Given the description of an element on the screen output the (x, y) to click on. 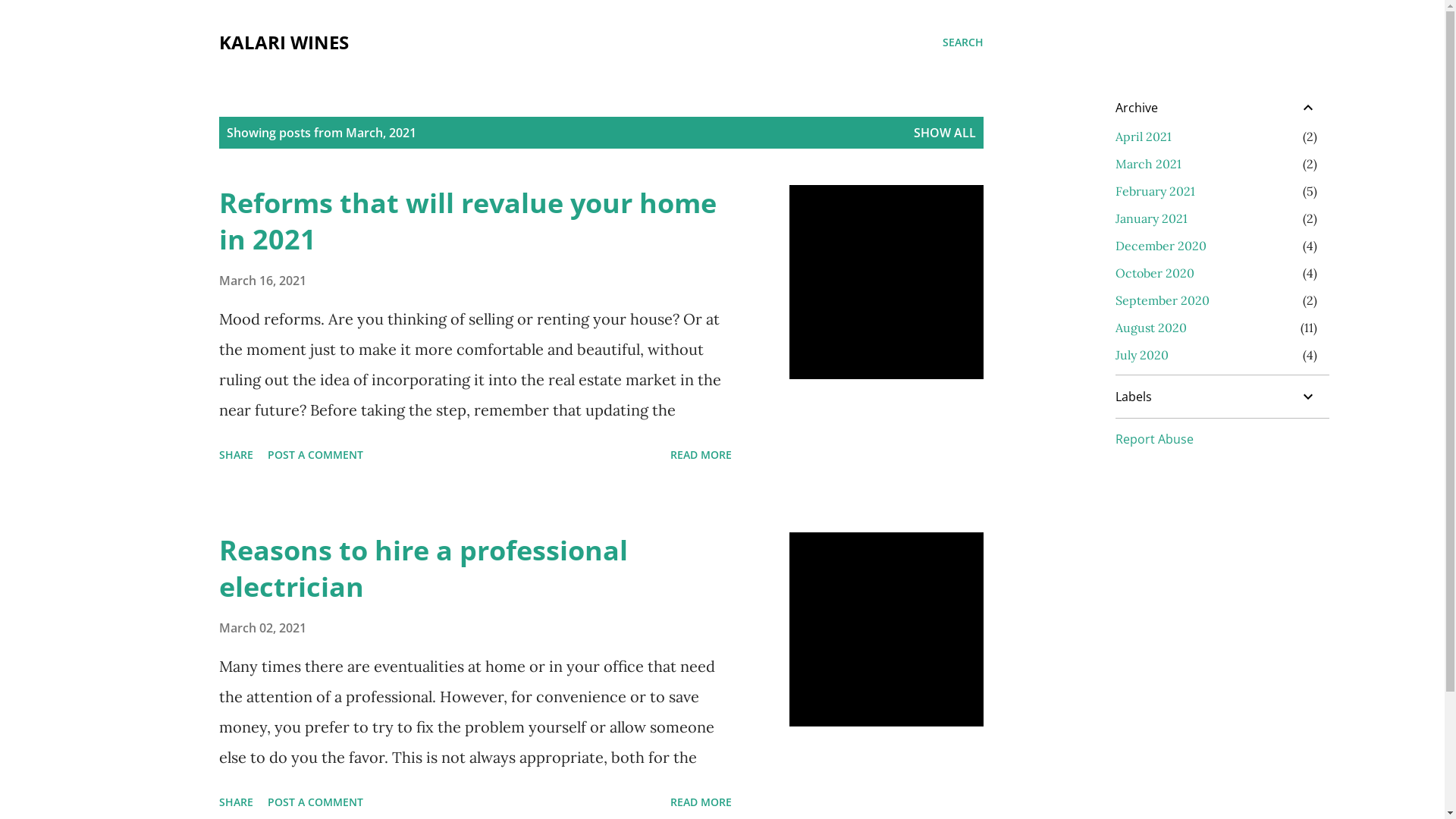
Reasons to hire a professional electrician Element type: text (422, 568)
POST A COMMENT Element type: text (314, 801)
Reforms that will revalue your home in 2021 Element type: text (466, 220)
July 2020
4 Element type: text (1140, 354)
March 02, 2021 Element type: text (261, 627)
SEARCH Element type: text (961, 42)
POST A COMMENT Element type: text (314, 454)
December 2020
4 Element type: text (1159, 245)
SHARE Element type: text (235, 454)
October 2020
4 Element type: text (1153, 272)
Report Abuse Element type: text (1153, 438)
February 2021
5 Element type: text (1154, 190)
September 2020
2 Element type: text (1161, 299)
KALARI WINES Element type: text (283, 41)
March 2021
2 Element type: text (1147, 163)
January 2021
2 Element type: text (1150, 217)
March 16, 2021 Element type: text (261, 280)
READ MORE Element type: text (700, 454)
August 2020
11 Element type: text (1150, 327)
SHOW ALL Element type: text (944, 132)
READ MORE Element type: text (700, 801)
April 2021
2 Element type: text (1142, 136)
SHARE Element type: text (235, 801)
